Given the description of an element on the screen output the (x, y) to click on. 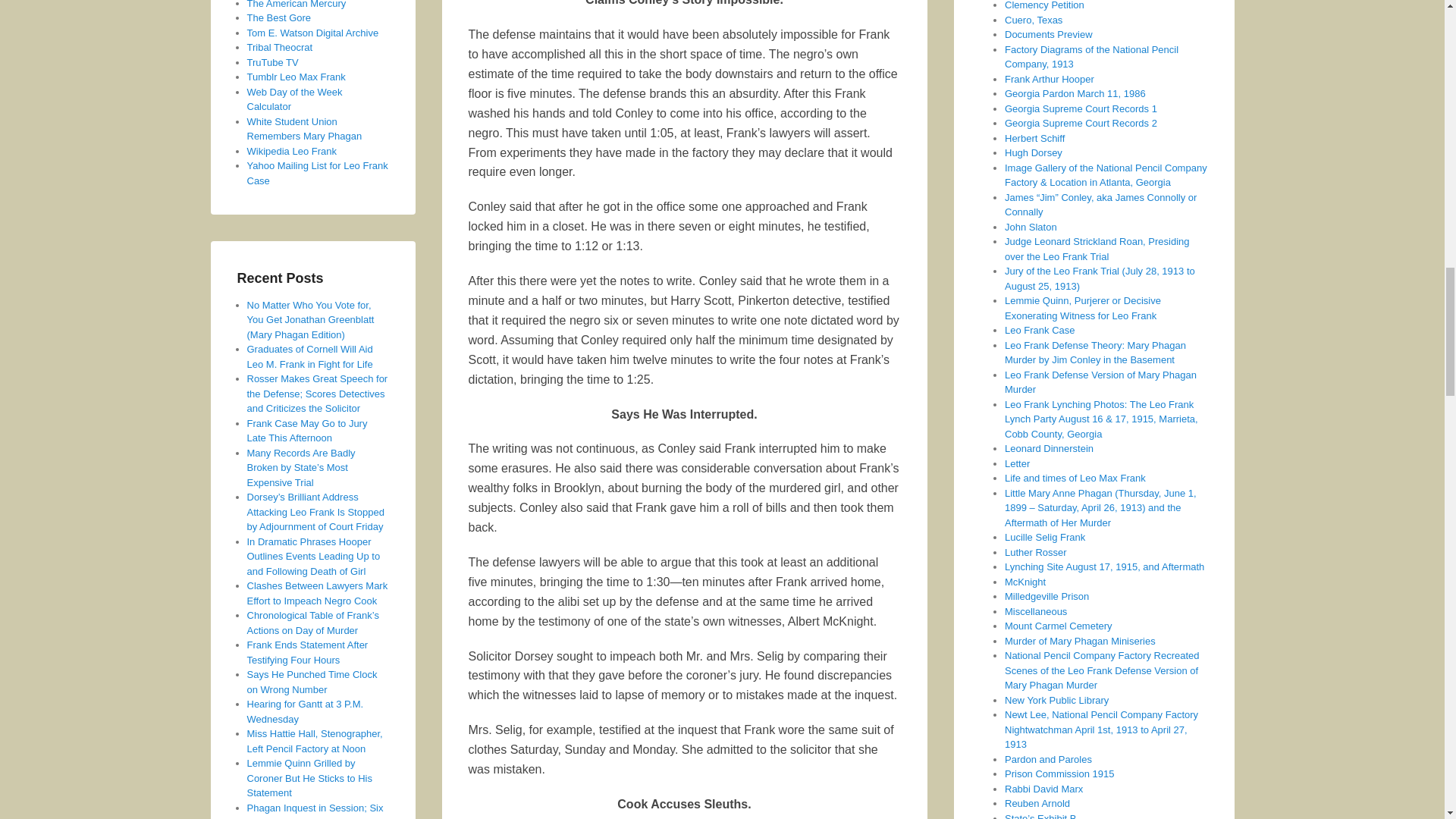
Christian Perspective on Leo Frank Case (280, 47)
